Given the description of an element on the screen output the (x, y) to click on. 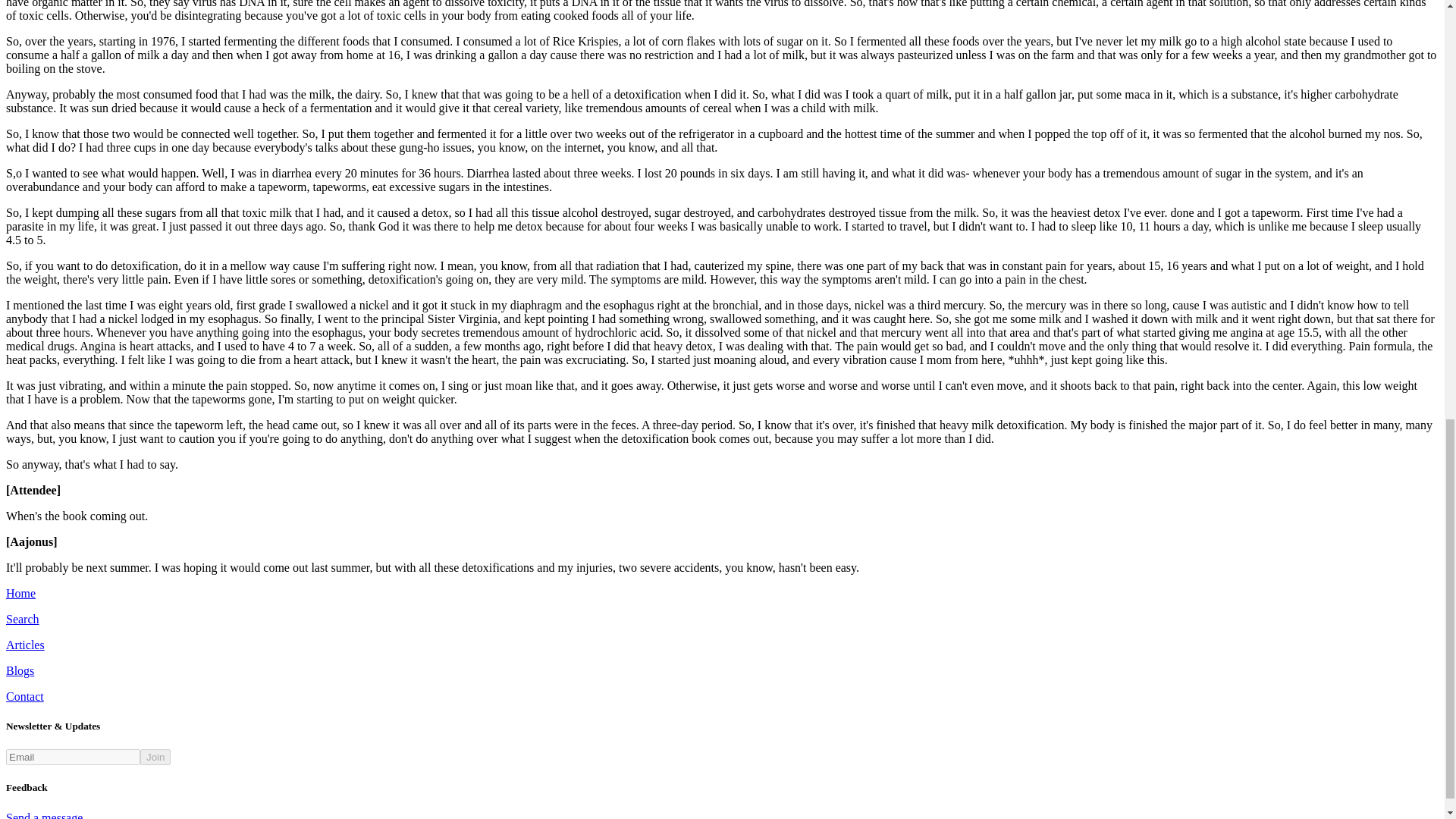
Join (154, 756)
